Given the description of an element on the screen output the (x, y) to click on. 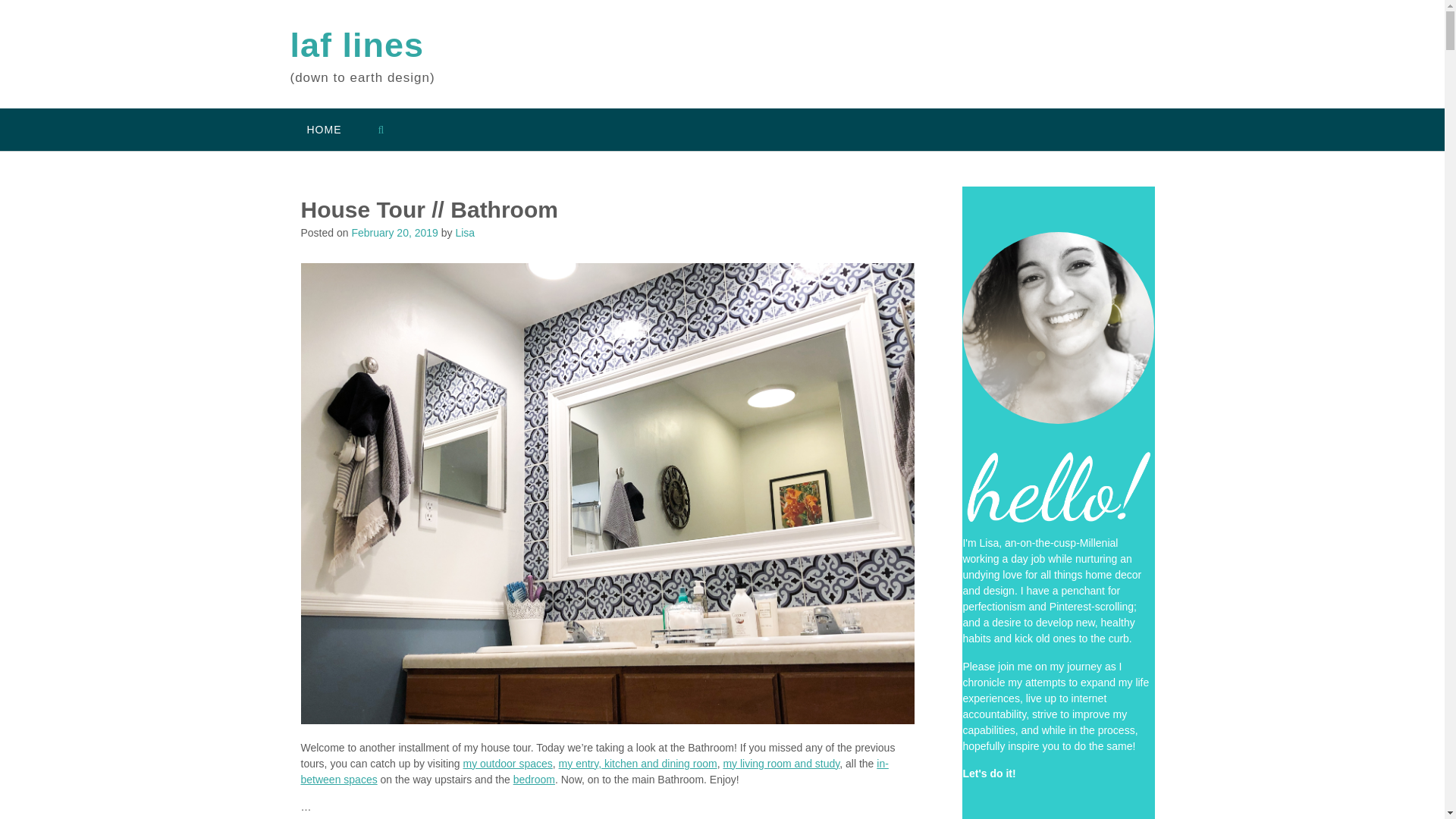
my outdoor spaces (507, 763)
HOME (323, 129)
laf lines (356, 45)
my entry, kitchen and dining room (638, 763)
Lisa (464, 232)
bedroom (533, 779)
my living room and study (781, 763)
February 20, 2019 (394, 232)
laf lines (356, 45)
in-between spaces (593, 771)
